Given the description of an element on the screen output the (x, y) to click on. 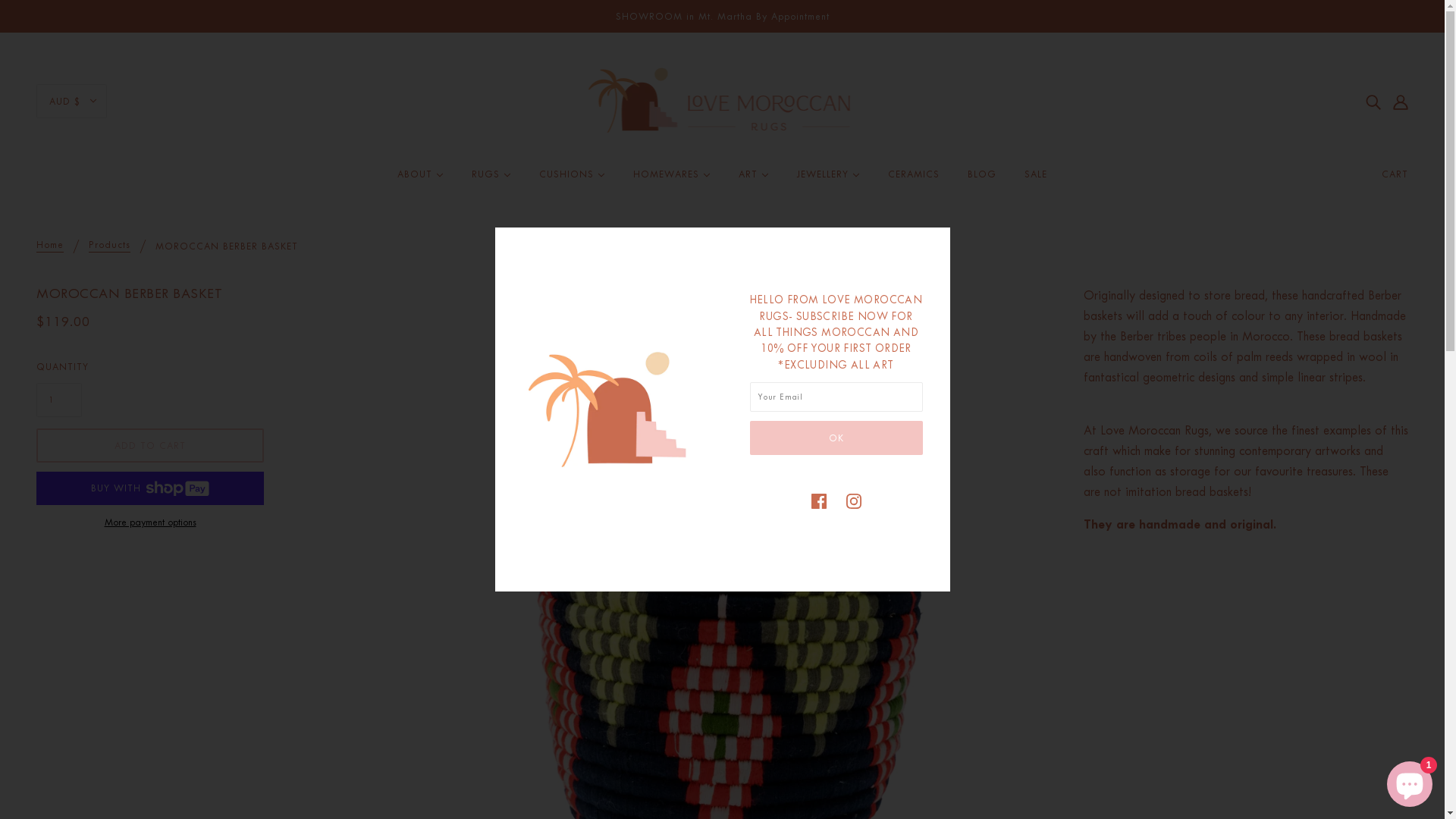
ABOUT Element type: text (420, 179)
JEWELLERY Element type: text (828, 179)
RUGS Element type: text (491, 179)
More payment options Element type: text (149, 521)
CART Element type: text (1394, 173)
BLOG Element type: text (981, 179)
Products Element type: text (109, 245)
Shopify online store chat Element type: hover (1409, 780)
SALE Element type: text (1035, 179)
ART Element type: text (753, 179)
ADD TO CART Element type: text (149, 445)
CUSHIONS Element type: text (572, 179)
Ok Element type: text (835, 437)
HOMEWARES Element type: text (671, 179)
CERAMICS Element type: text (913, 179)
Home Element type: text (49, 245)
Love Moroccan Rugs Element type: hover (722, 99)
